Given the description of an element on the screen output the (x, y) to click on. 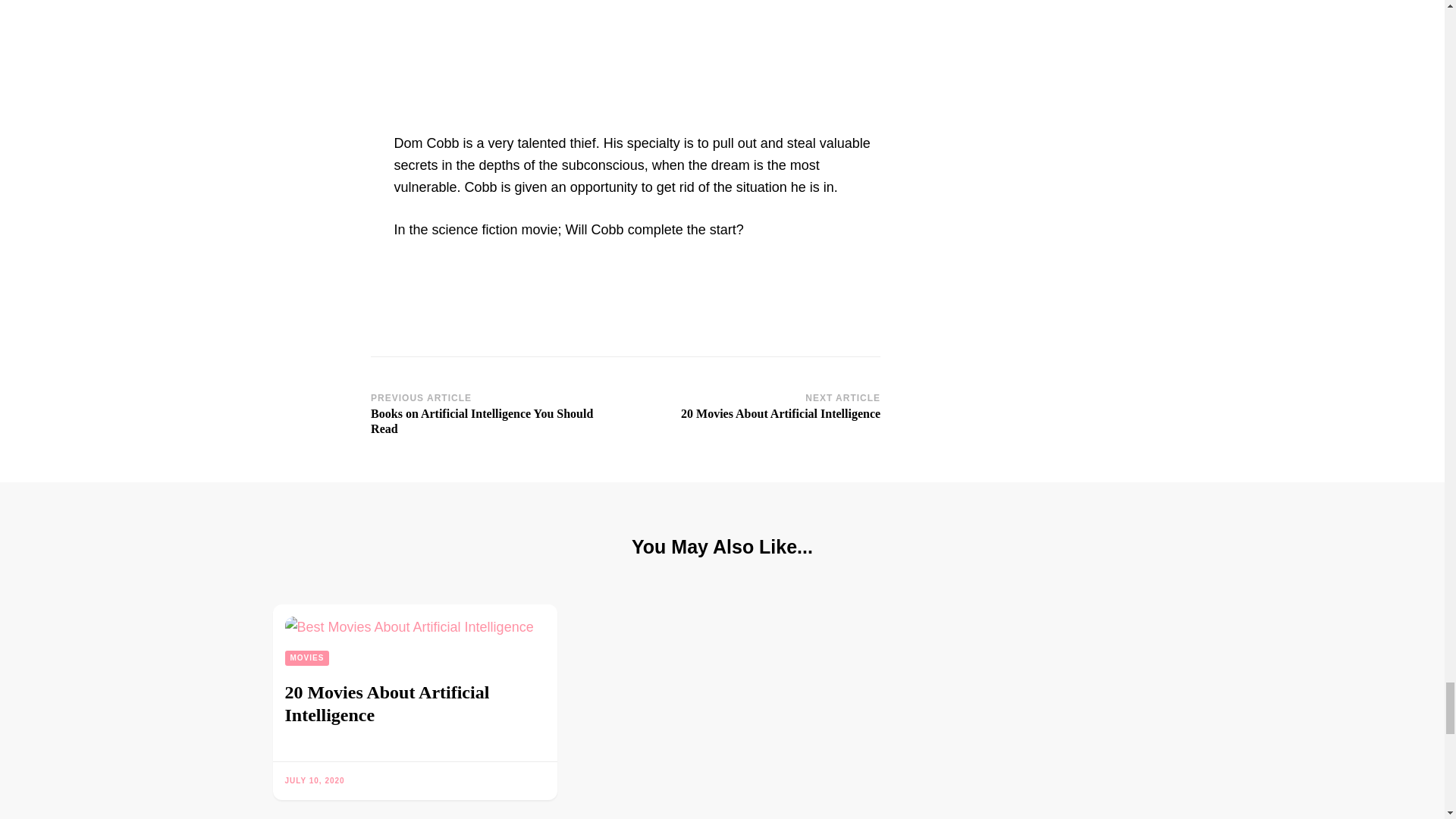
JULY 10, 2020 (315, 780)
MOVIES (758, 407)
20 Movies About Artificial Intelligence (307, 657)
